Given the description of an element on the screen output the (x, y) to click on. 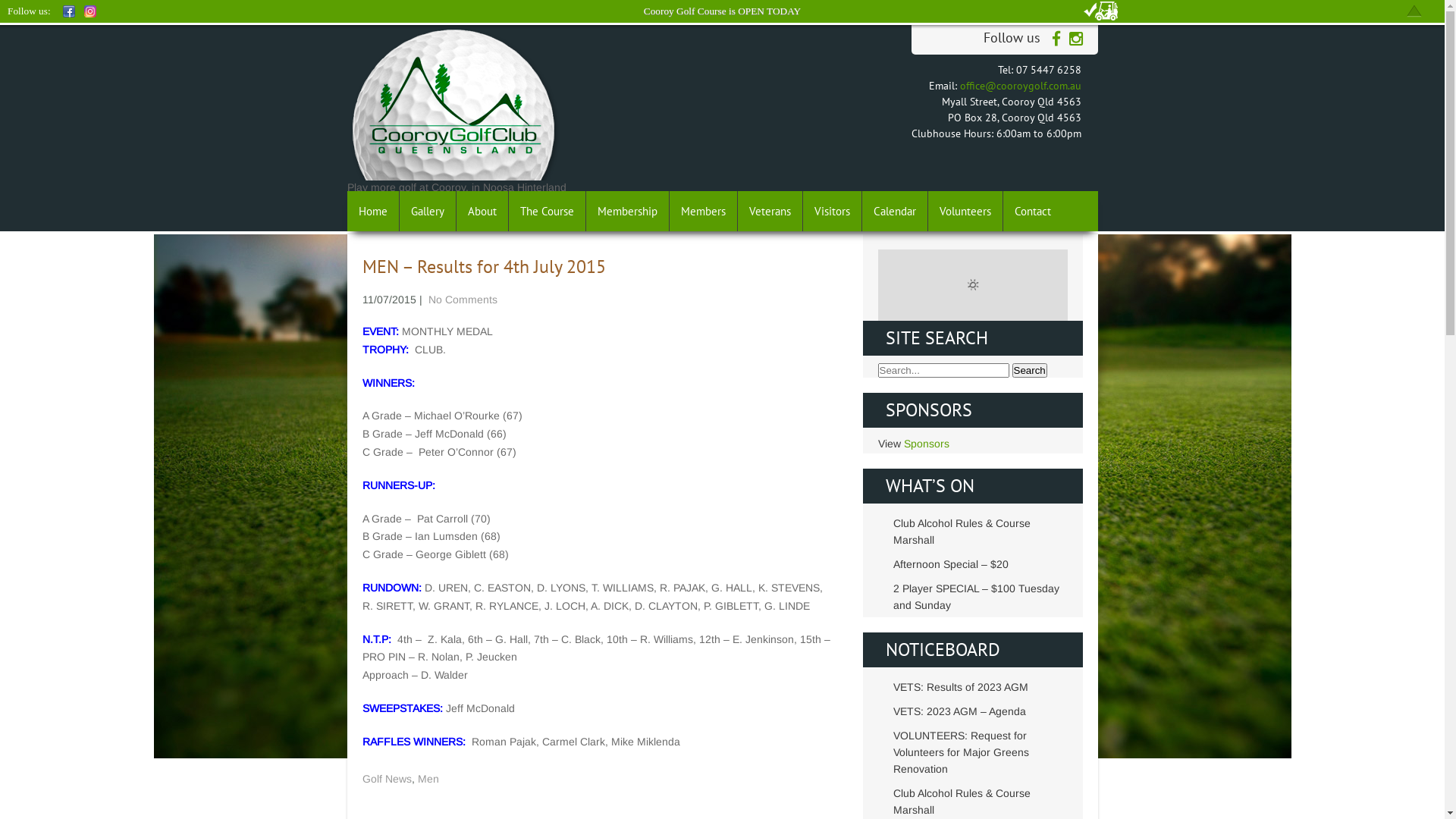
office@cooroygolf.com.au Element type: text (1020, 85)
Men Element type: text (427, 778)
Members Element type: text (702, 211)
Veterans Element type: text (769, 211)
The Course Element type: text (546, 211)
Instagram Element type: hover (89, 11)
Contact Element type: text (1031, 211)
Sponsors Element type: text (926, 443)
No Comments Element type: text (461, 299)
Volunteers Element type: text (965, 211)
Club Alcohol Rules & Course Marshall Element type: text (980, 531)
Search Element type: text (1028, 370)
Facebook Element type: hover (68, 11)
Calendar Element type: text (894, 211)
Gallery Element type: text (426, 211)
Club Alcohol Rules & Course Marshall Element type: text (980, 801)
Home Element type: text (373, 211)
VETS: Results of 2023 AGM Element type: text (980, 686)
About Element type: text (482, 211)
Visitors Element type: text (831, 211)
Golf News Element type: text (386, 778)
Membership Element type: text (626, 211)
